Given the description of an element on the screen output the (x, y) to click on. 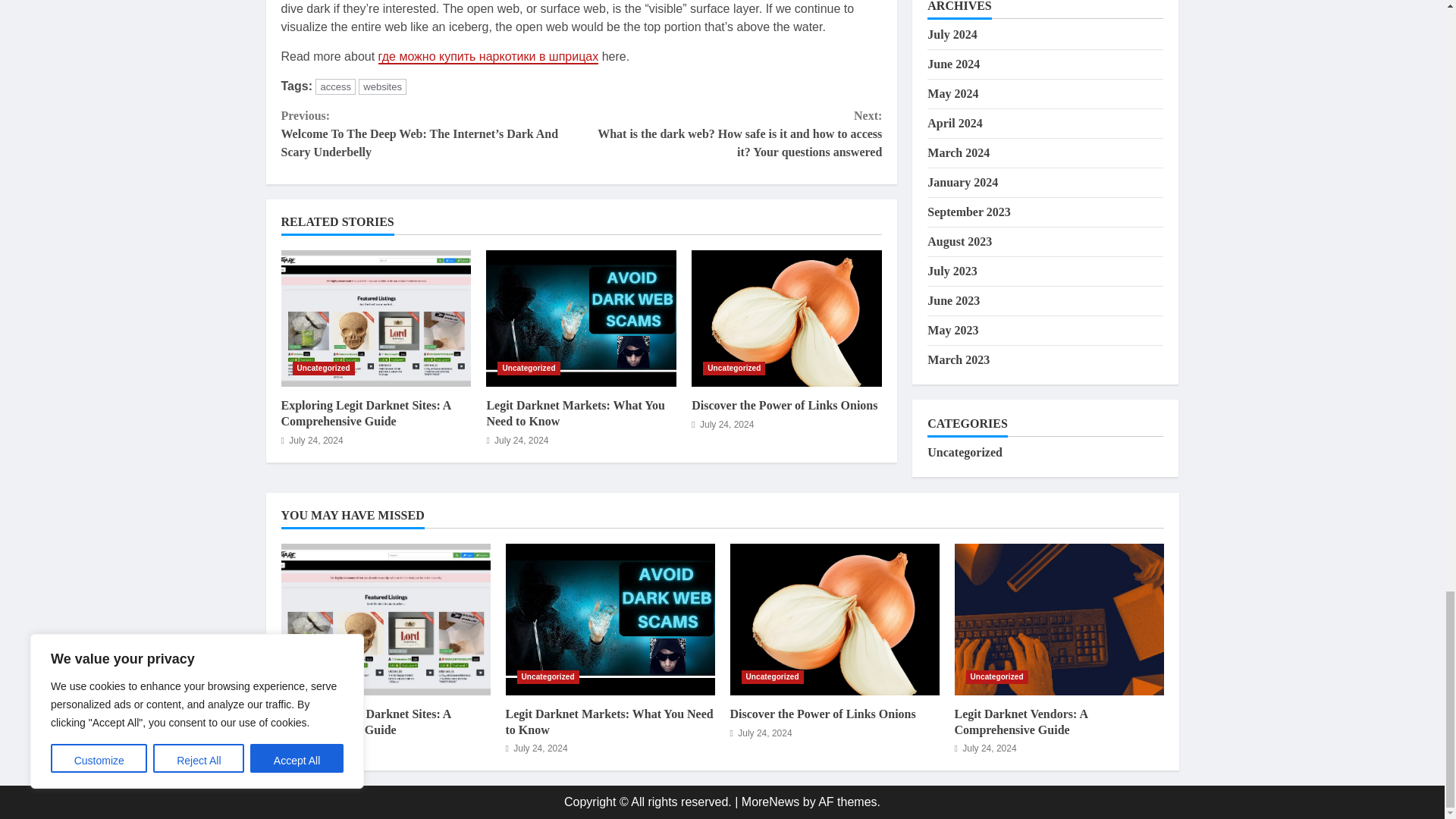
Exploring Legit Darknet Sites: A Comprehensive Guide (375, 318)
Uncategorized (323, 368)
access (335, 86)
websites (382, 86)
